Given the description of an element on the screen output the (x, y) to click on. 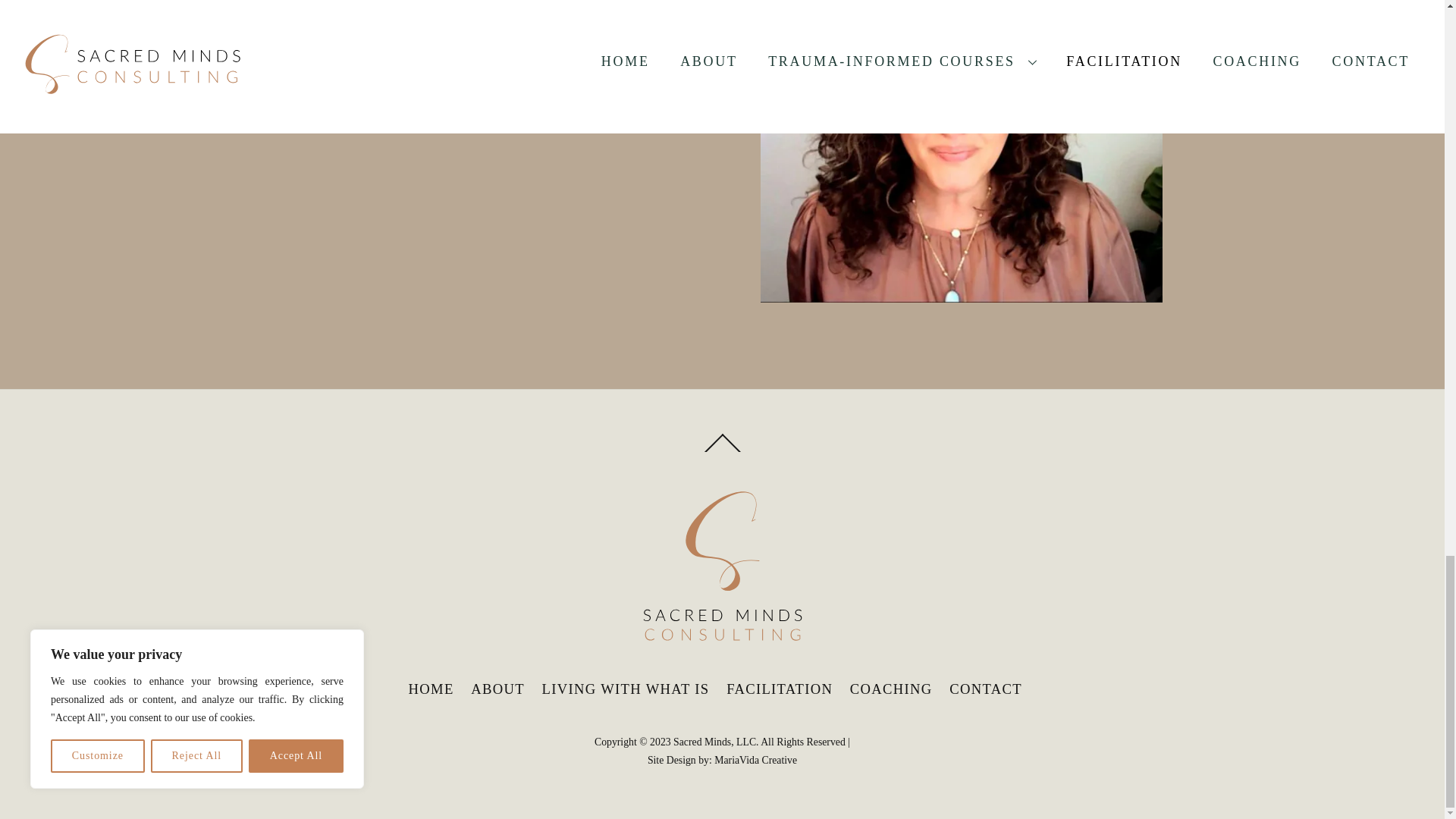
COACHING (891, 688)
Submit Inquiry (502, 67)
MariaVida Creative (755, 759)
FACILITATION (779, 688)
ABOUT (497, 688)
LIVING WITH WHAT IS (625, 688)
HOME (431, 688)
Sacred Minds Consulting (721, 644)
CONTACT (985, 688)
